Given the description of an element on the screen output the (x, y) to click on. 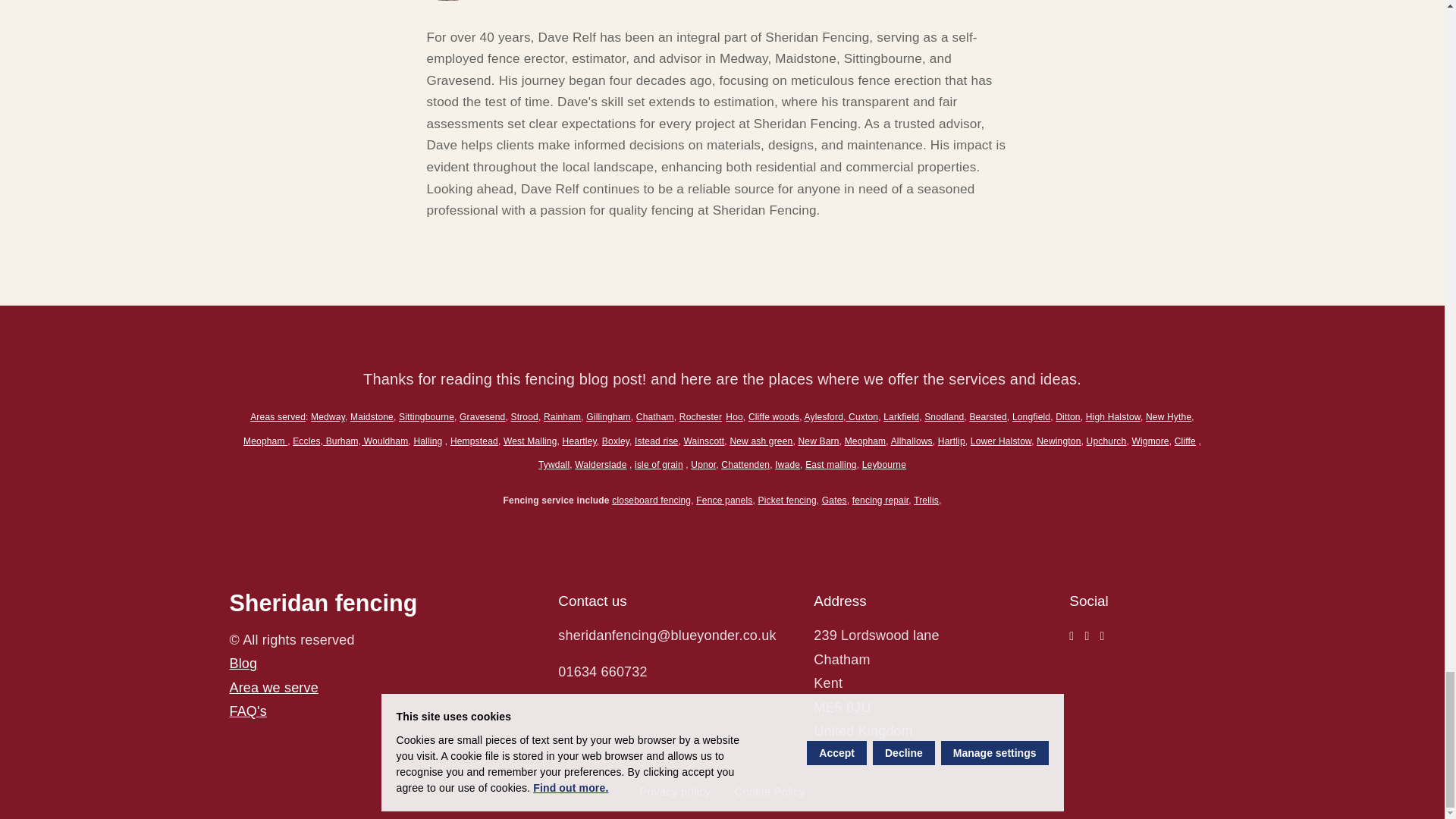
Medway (328, 415)
Gillingham (608, 415)
Gravesend (482, 415)
Rochester (700, 415)
Hoo (733, 415)
Maidstone (371, 415)
Sittingbourne (426, 415)
Strood (524, 415)
Rainham (561, 415)
Chatham (655, 415)
Areas served (277, 416)
